Given the description of an element on the screen output the (x, y) to click on. 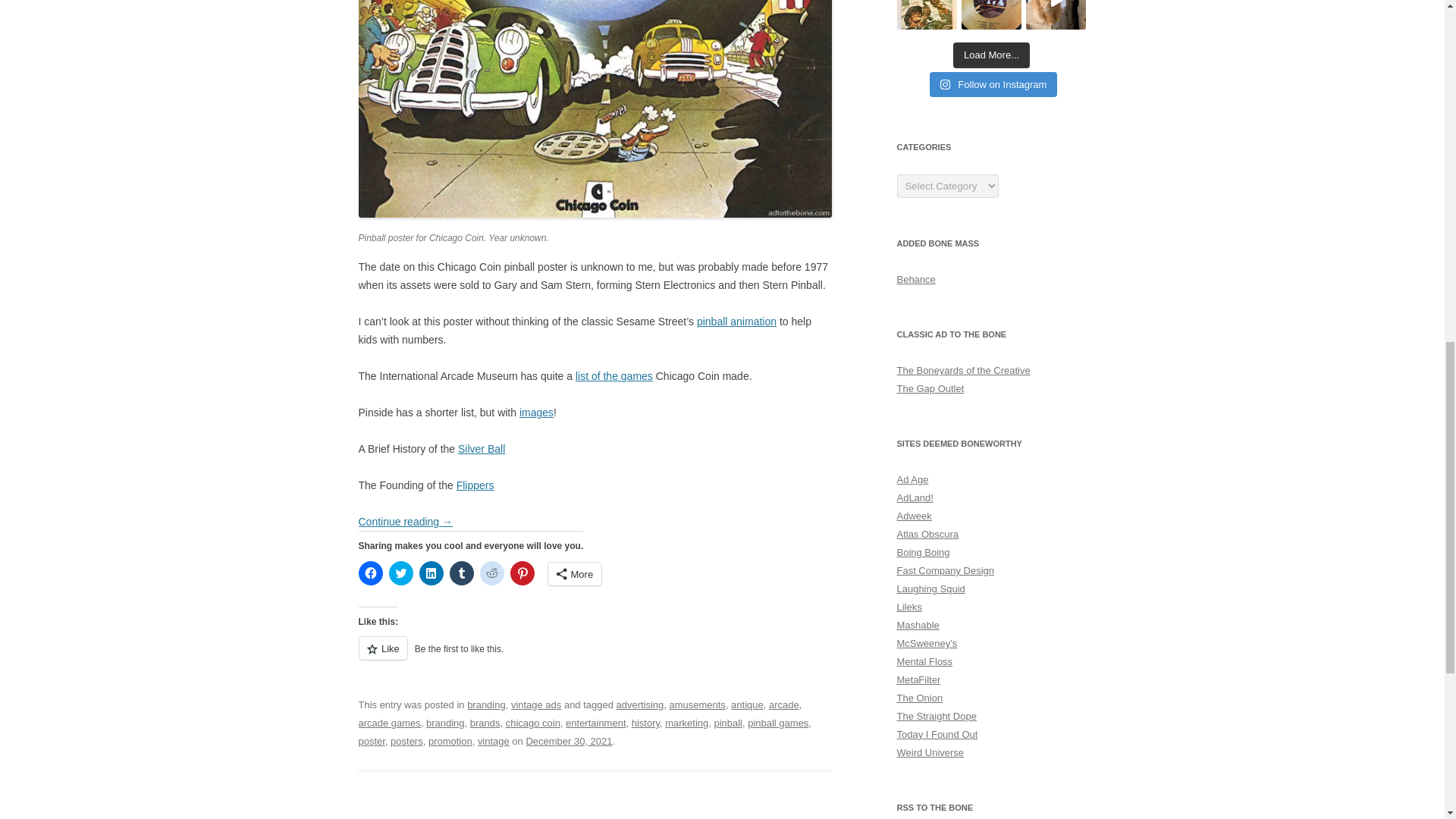
advertising (639, 704)
entertainment (596, 722)
Like or Reblog (594, 657)
chicago coin (532, 722)
Click to share on Pinterest (521, 573)
pinball animation (736, 321)
arcade games (389, 722)
Click to share on Twitter (400, 573)
branding (486, 704)
amusements (697, 704)
